Given the description of an element on the screen output the (x, y) to click on. 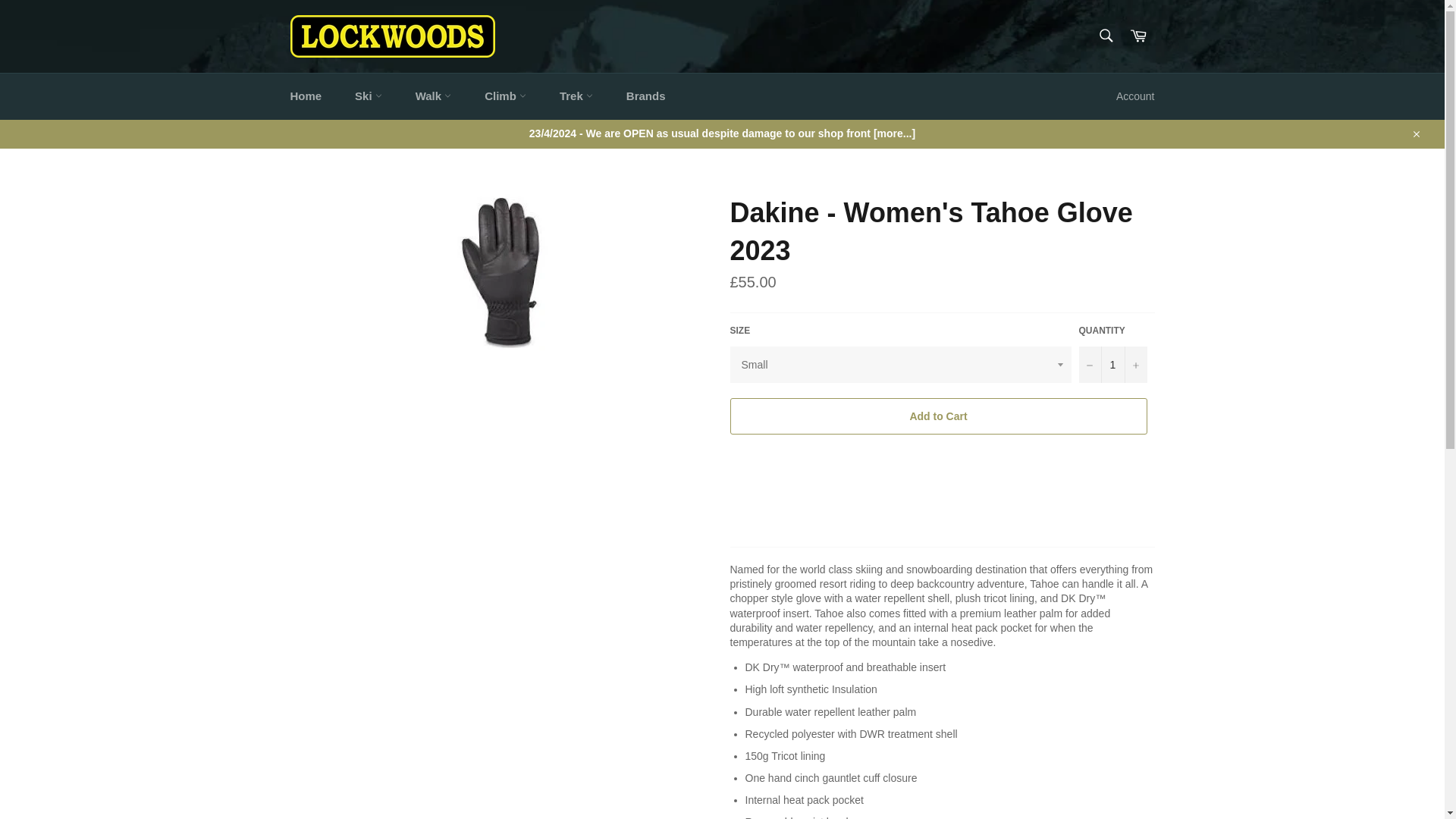
1 (1112, 364)
